Given the description of an element on the screen output the (x, y) to click on. 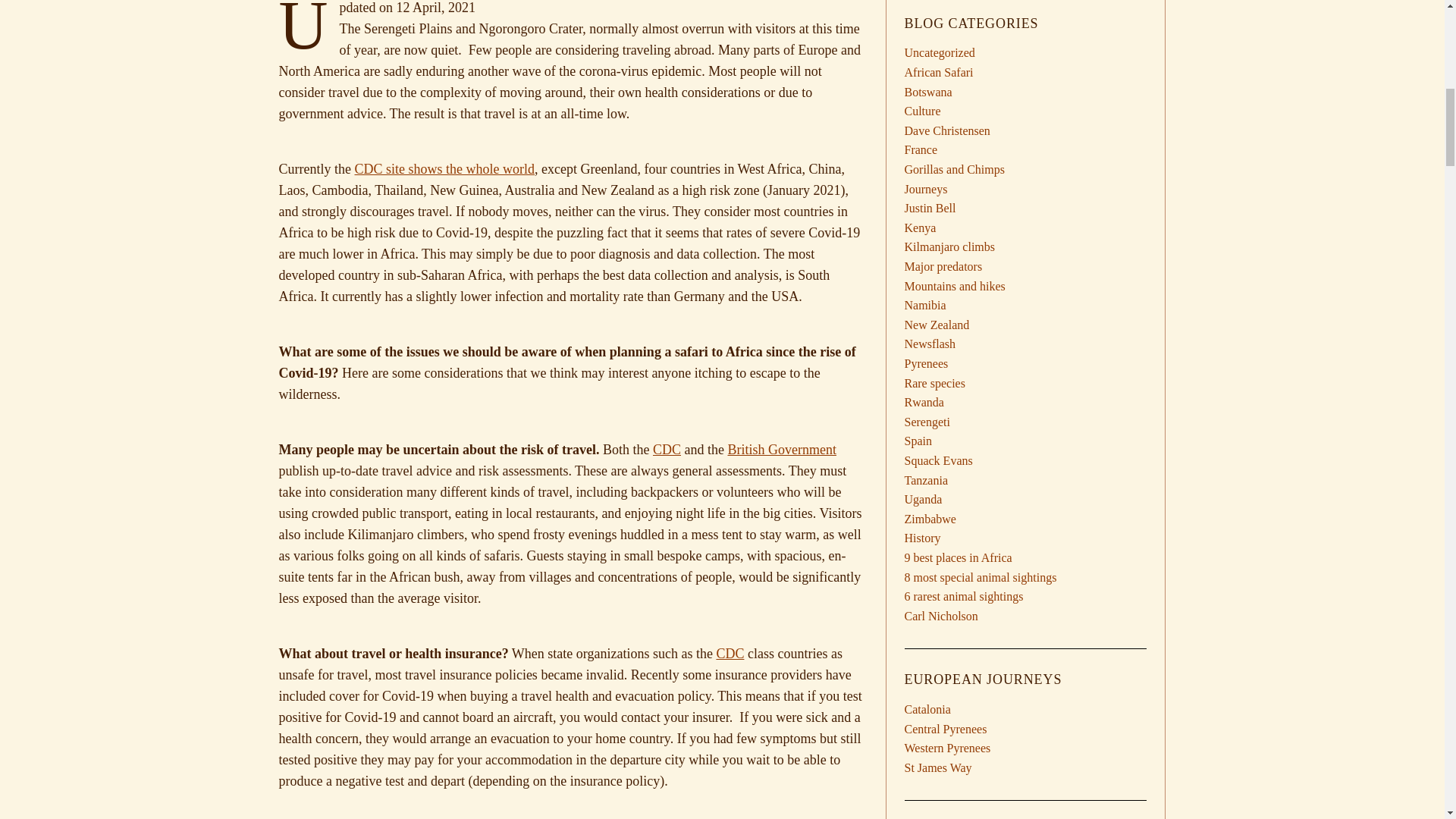
View all posts filed under Justin Bell (929, 207)
View all posts filed under Gorillas and Chimps (954, 169)
View all posts filed under Culture (922, 110)
View all posts filed under Botswana (928, 91)
View all posts filed under Kenya (920, 227)
View all posts filed under African Safari (938, 72)
View all posts filed under Newsflash (929, 343)
View all posts filed under Dave Christensen (947, 130)
View all posts filed under Mountains and hikes (954, 286)
View all posts filed under Kilmanjaro climbs (949, 246)
View all posts filed under Namibia (924, 305)
View all posts filed under New Zealand (936, 324)
View all posts filed under Major predators (942, 266)
View all posts filed under Journeys (925, 188)
View all posts filed under France (920, 149)
